Given the description of an element on the screen output the (x, y) to click on. 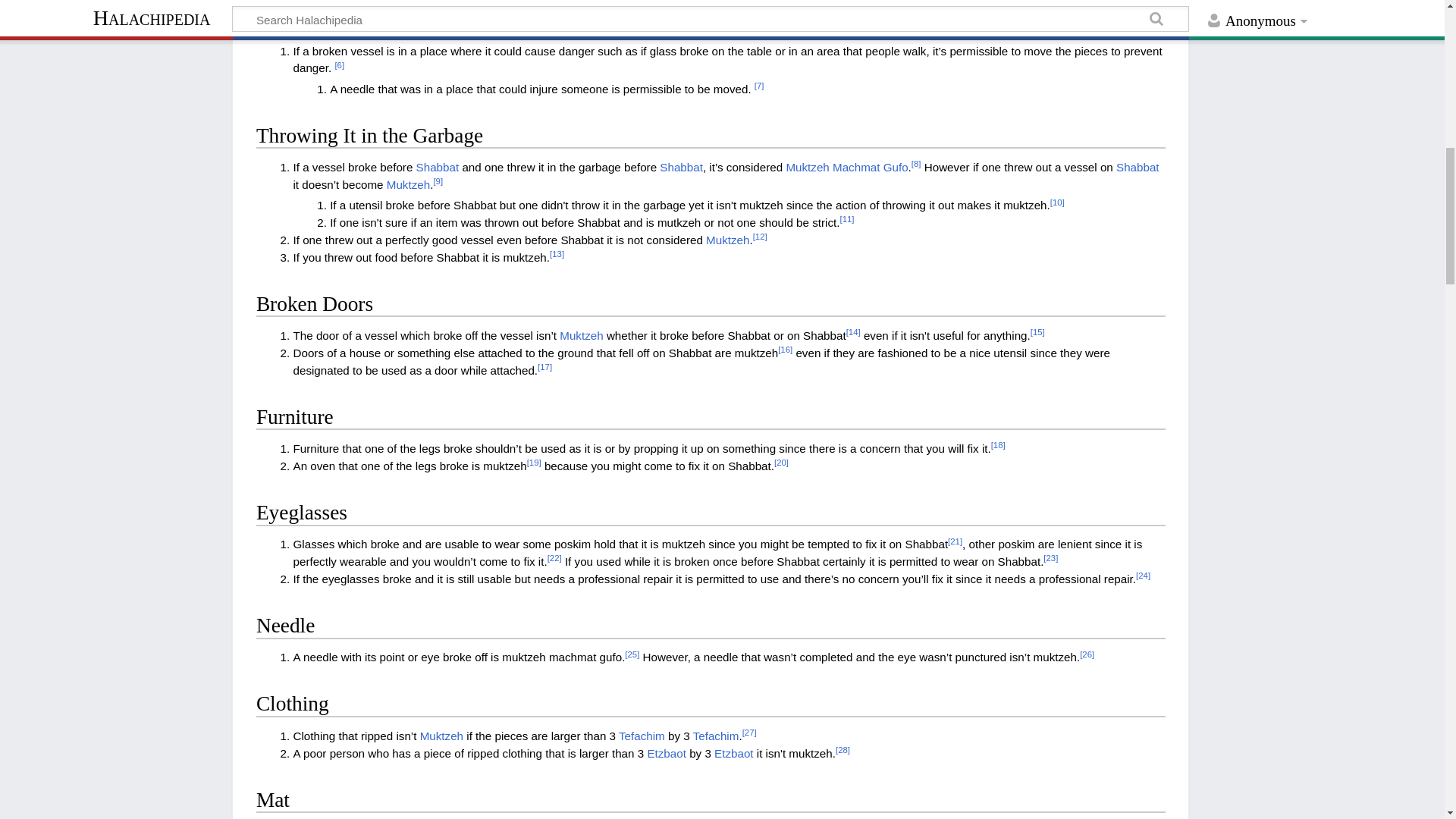
Shabbat (438, 166)
Muktzeh Machmat Gufo (846, 166)
Shabbat (681, 166)
Muktzeh Machmat Gufo (846, 166)
Shabbat (681, 166)
Shabbat (438, 166)
